Given the description of an element on the screen output the (x, y) to click on. 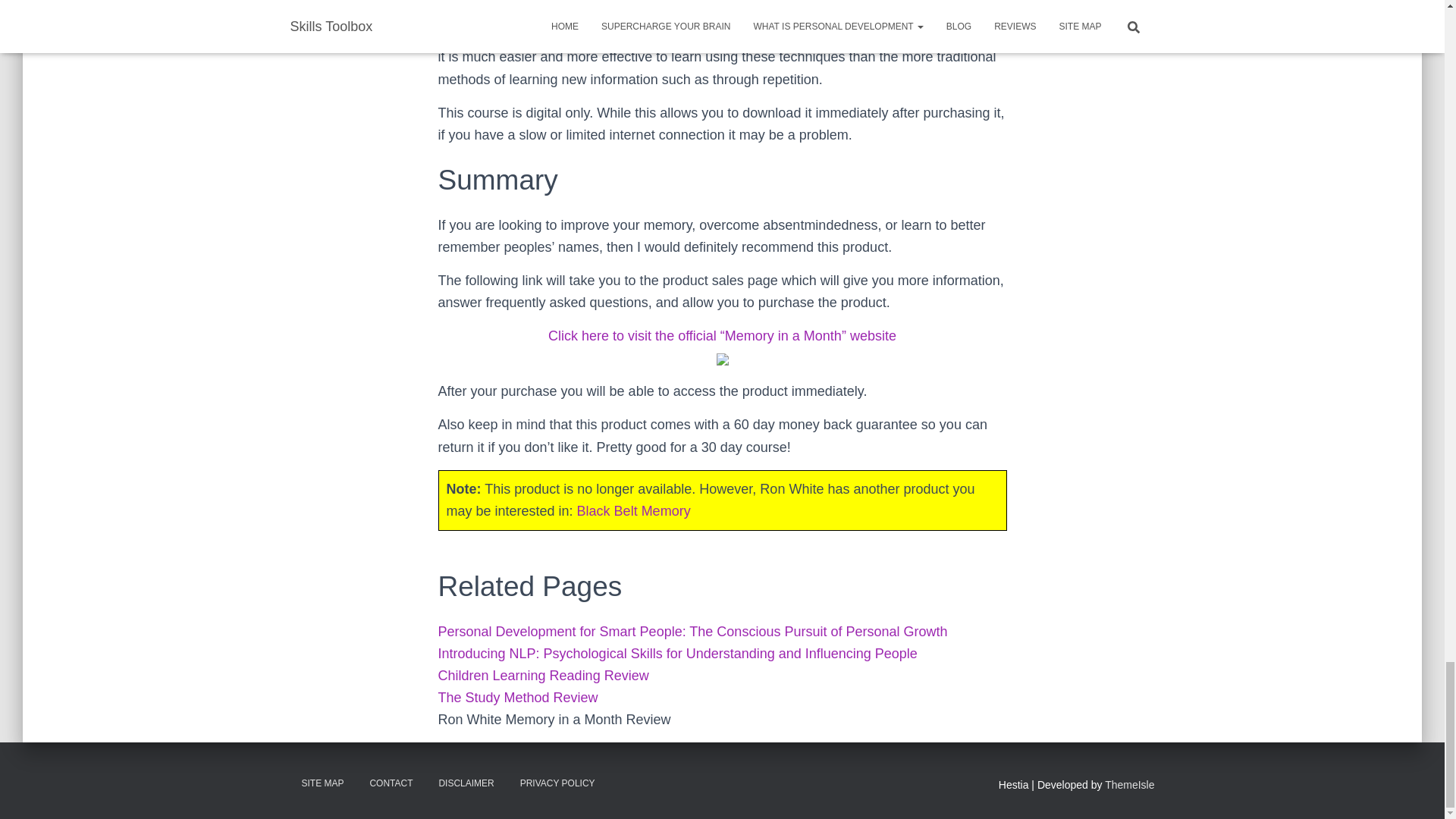
Children Learning Reading Review (543, 675)
DISCLAIMER (465, 783)
PRIVACY POLICY (557, 783)
SITE MAP (322, 783)
Black Belt Memory (633, 510)
CONTACT (390, 783)
ThemeIsle (1129, 784)
The Study Method Review (518, 697)
